Given the description of an element on the screen output the (x, y) to click on. 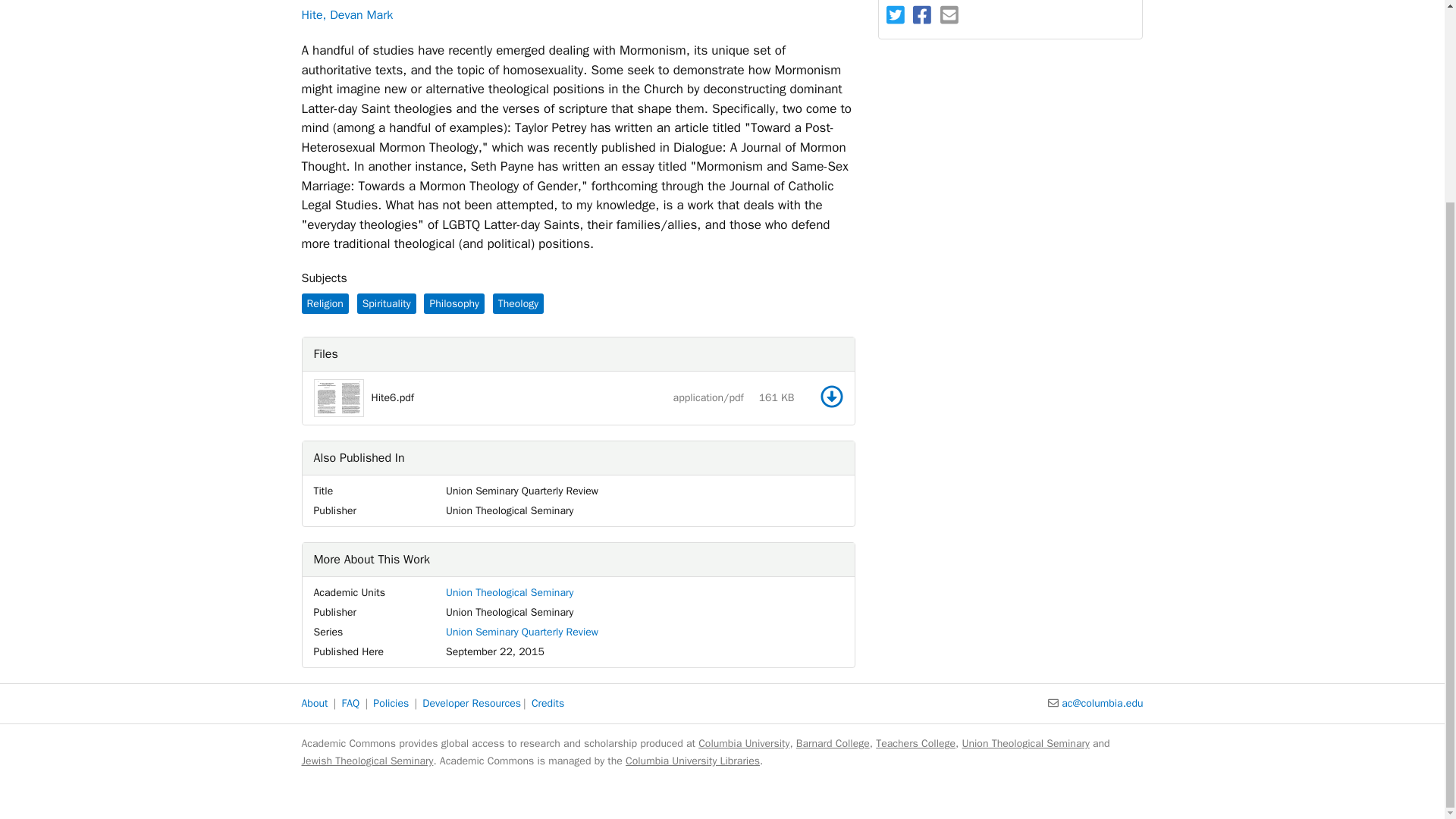
Theology (518, 303)
Download file (832, 395)
Developer Resources (471, 703)
Religion (325, 303)
Columbia University Libraries (693, 760)
Spirituality (386, 303)
Barnard College (832, 743)
Teachers College (915, 743)
Union Seminary Quarterly Review (521, 631)
Jewish Theological Seminary (367, 760)
